Given the description of an element on the screen output the (x, y) to click on. 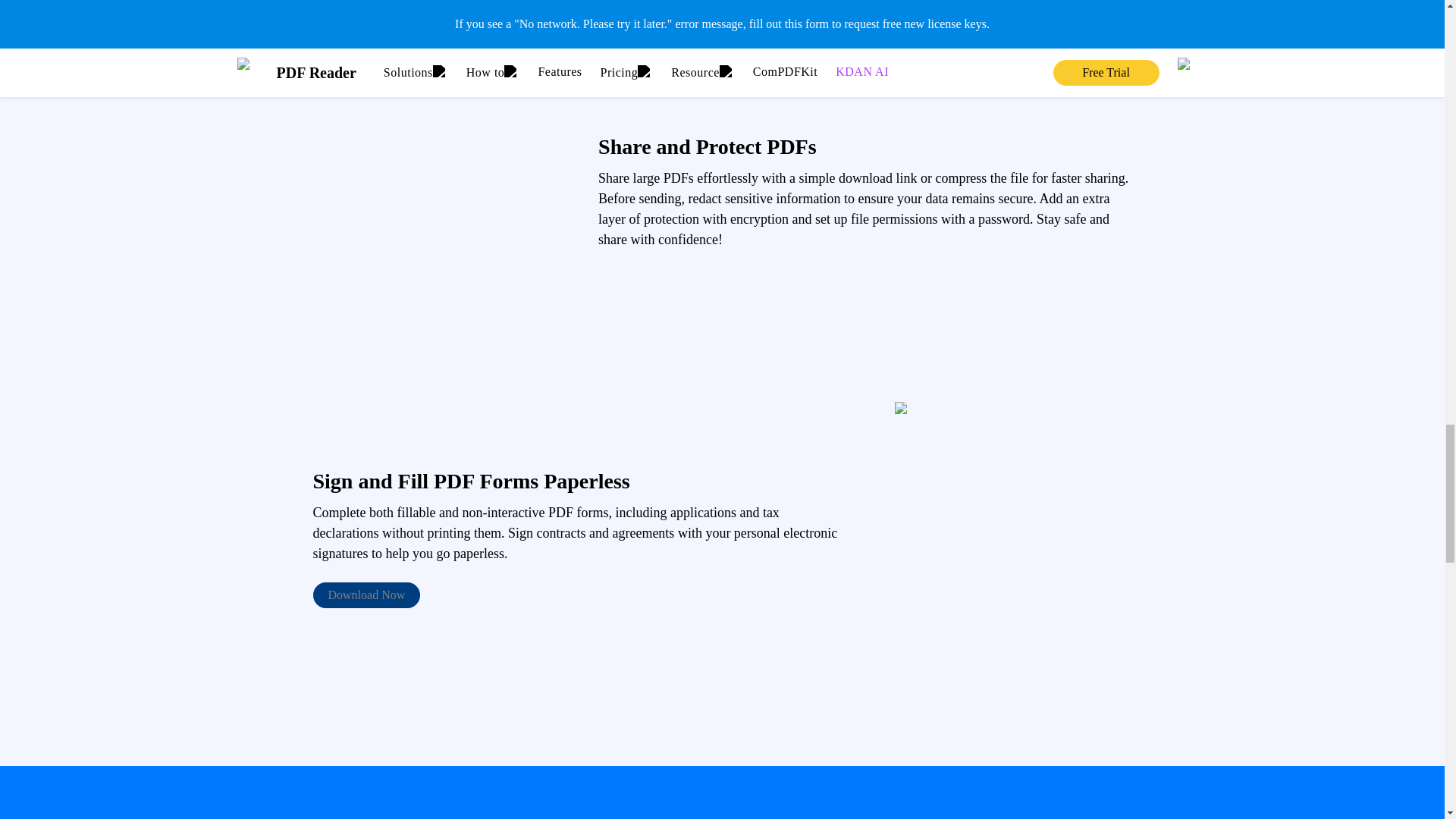
Download Now (366, 595)
